Given the description of an element on the screen output the (x, y) to click on. 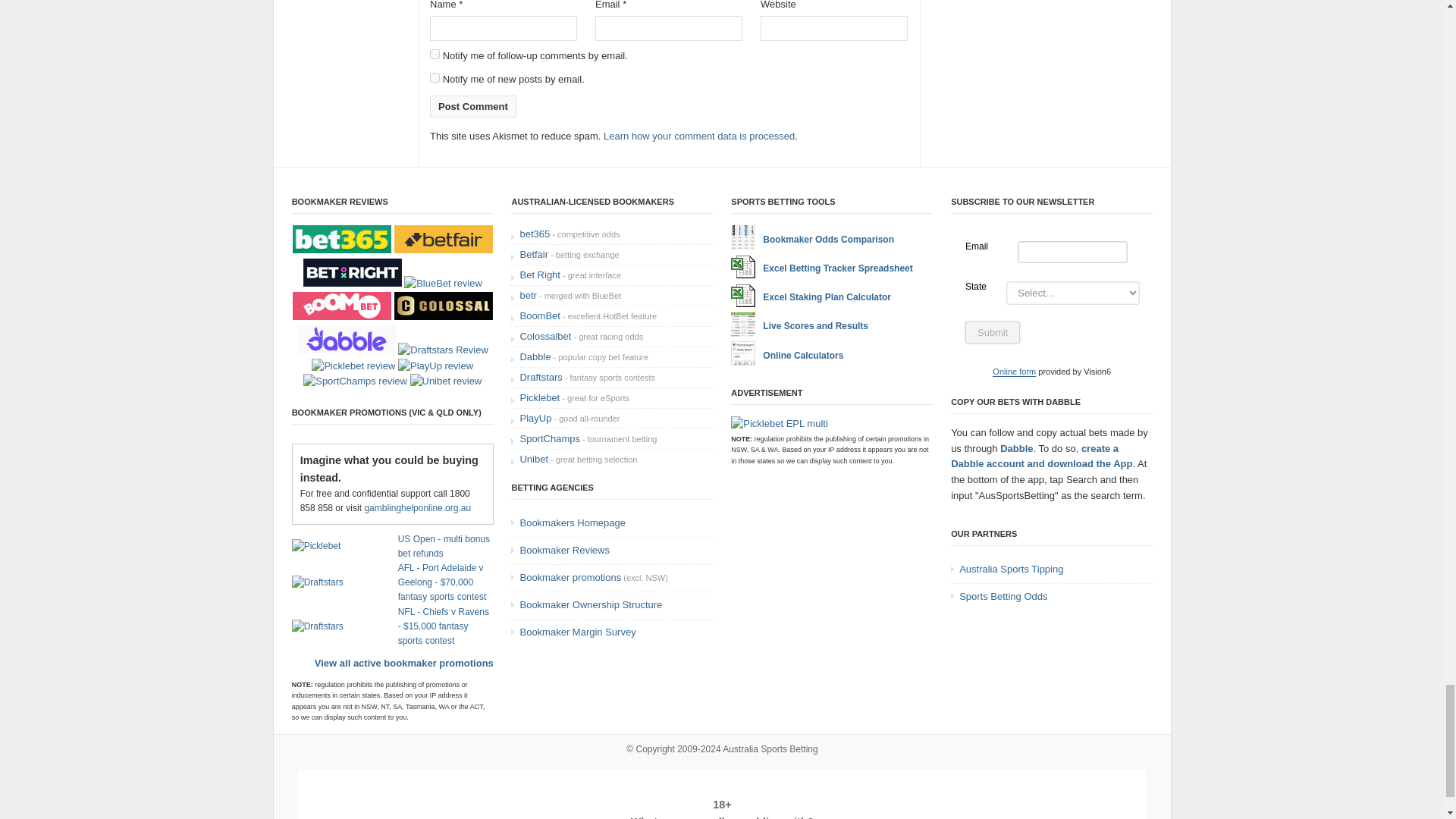
subscribe (434, 77)
subscribe (434, 53)
Post Comment (472, 106)
